Given the description of an element on the screen output the (x, y) to click on. 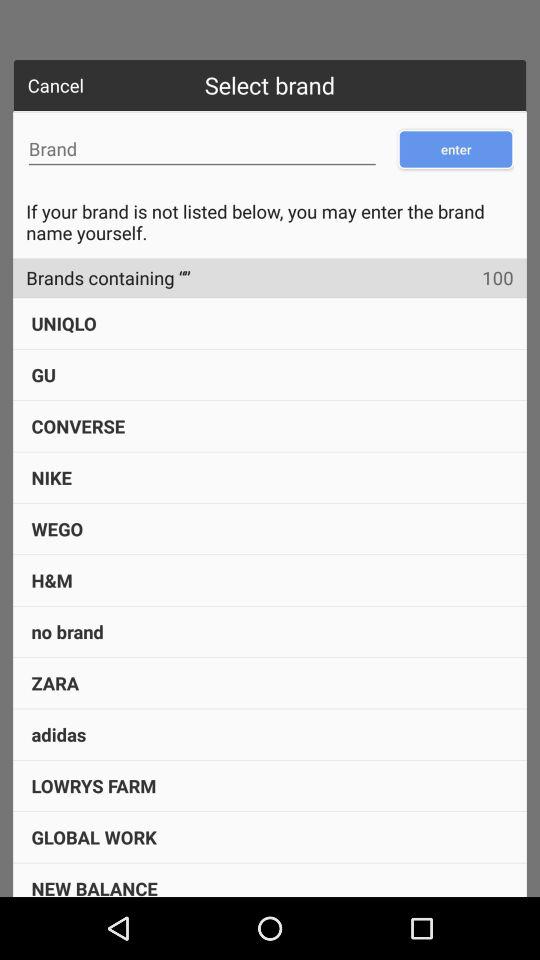
turn off icon below the uniqlo icon (43, 374)
